Given the description of an element on the screen output the (x, y) to click on. 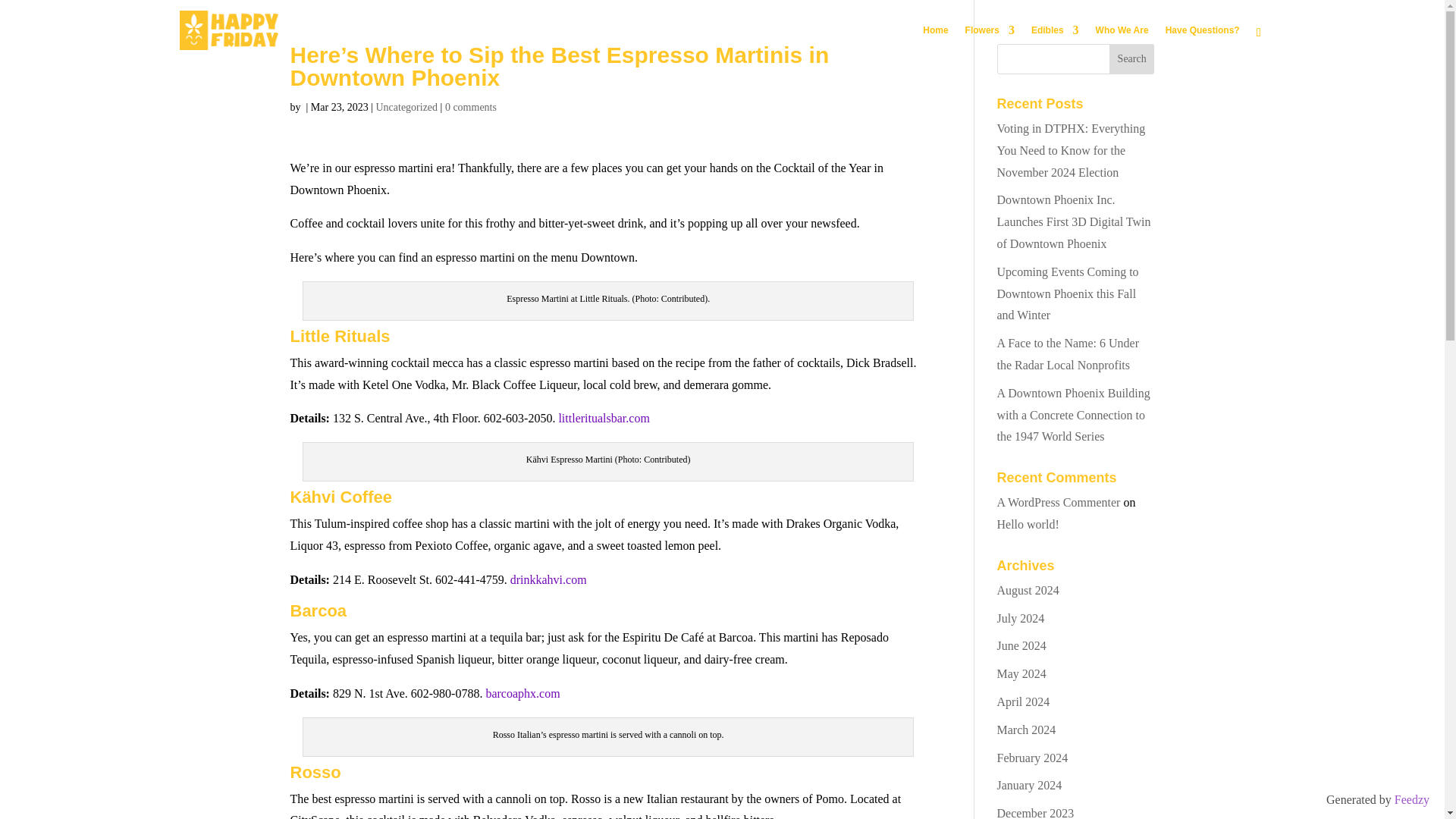
Have Questions? (1203, 42)
February 2024 (1032, 757)
Who We Are (1122, 42)
A WordPress Commenter (1059, 502)
barcoaphx.com (521, 693)
June 2024 (1021, 645)
littleritualsbar.com (603, 418)
July 2024 (1021, 617)
0 comments (470, 107)
Search (1131, 59)
